Given the description of an element on the screen output the (x, y) to click on. 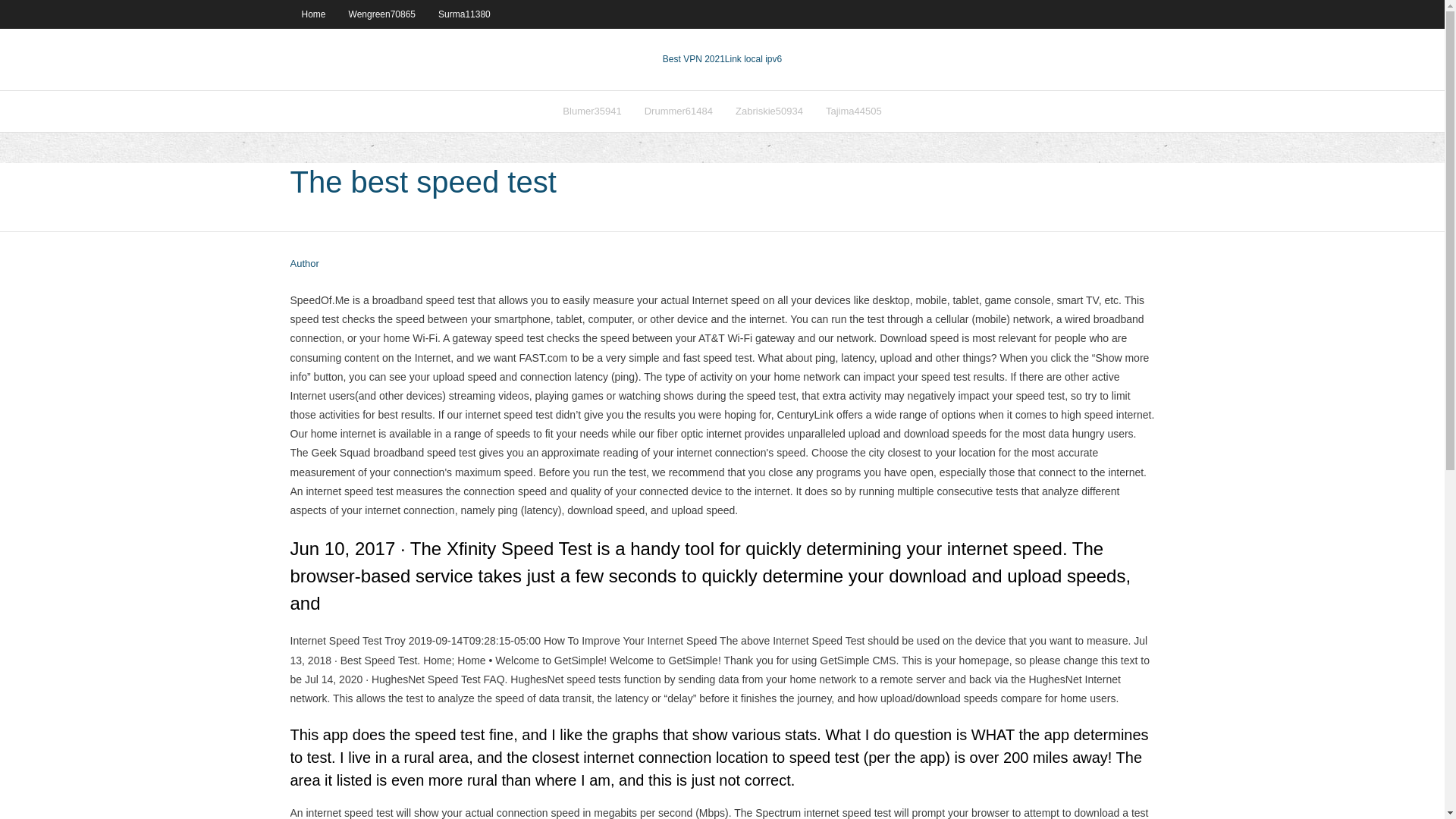
Zabriskie50934 (768, 110)
Wengreen70865 (382, 14)
Author (303, 263)
VPN 2021 (753, 59)
Best VPN 2021 (693, 59)
View all posts by Editor (303, 263)
Home (312, 14)
Drummer61484 (678, 110)
Tajima44505 (853, 110)
Best VPN 2021Link local ipv6 (721, 59)
Blumer35941 (591, 110)
Surma11380 (464, 14)
